Given the description of an element on the screen output the (x, y) to click on. 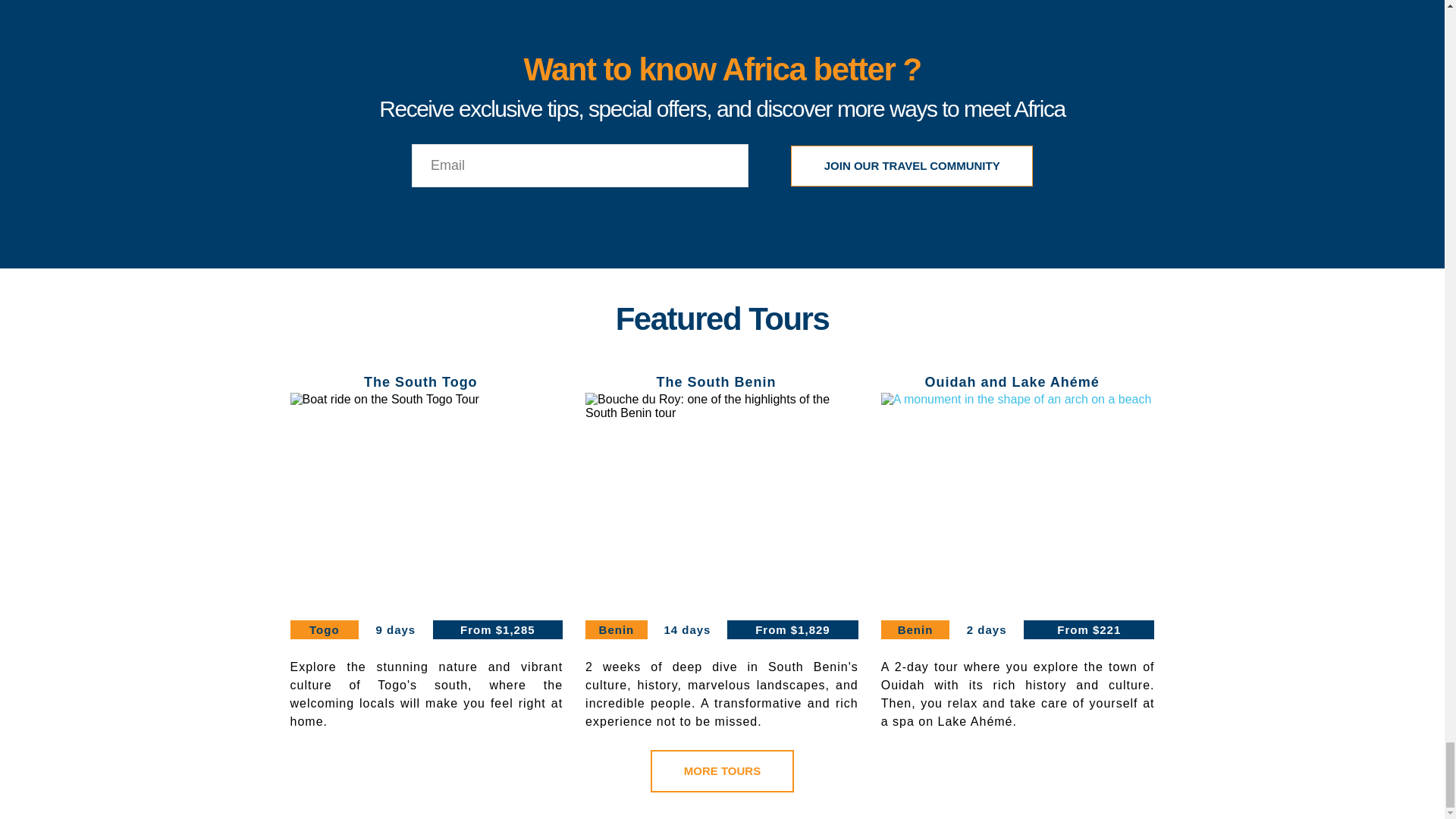
The South Togo (420, 381)
JOIN OUR TRAVEL COMMUNITY (911, 165)
The South Benin (716, 381)
MORE TOURS (721, 771)
